Given the description of an element on the screen output the (x, y) to click on. 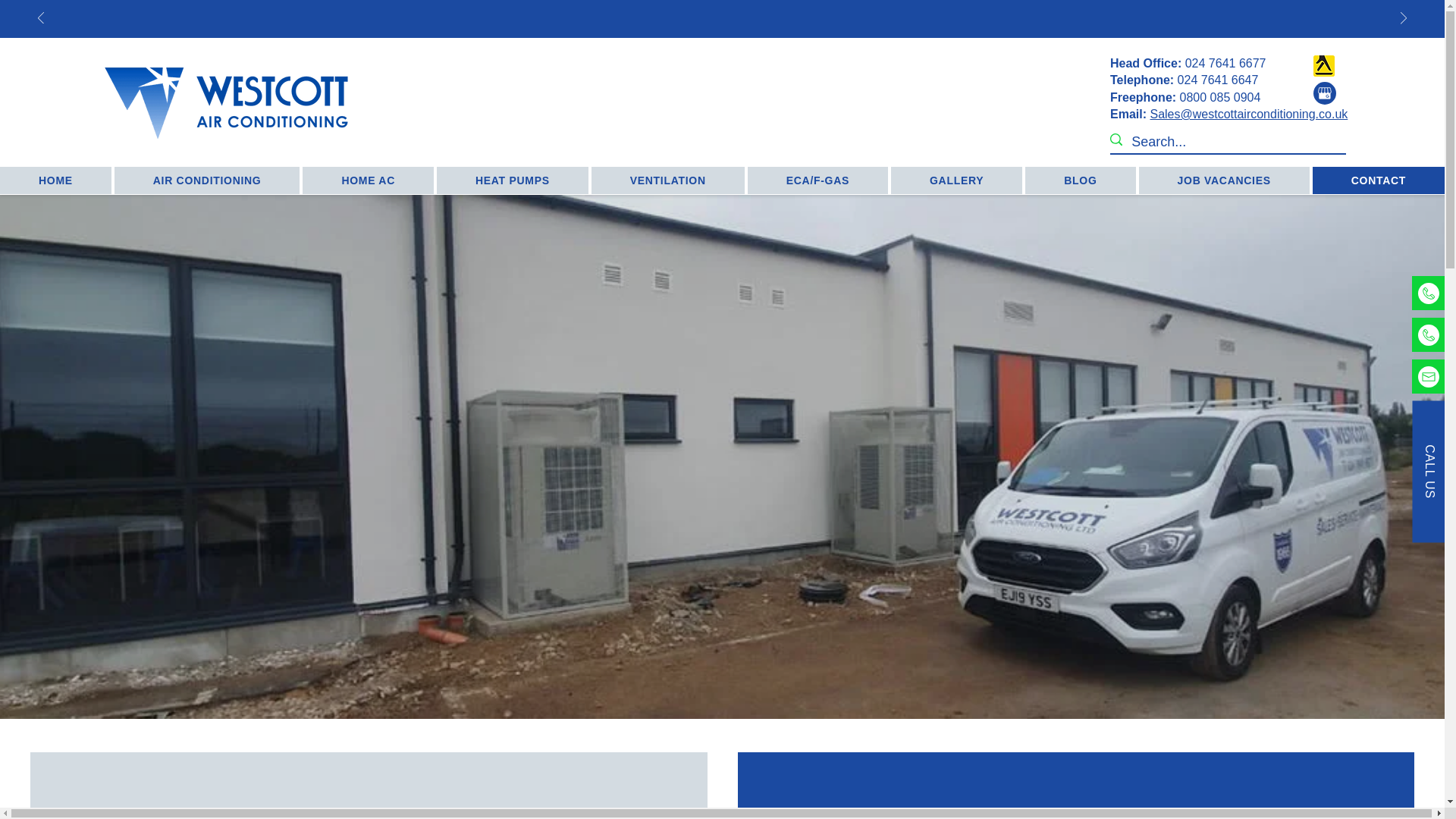
JOB VACANCIES (1223, 180)
CONTACT (1378, 180)
HOME AC (367, 180)
HEAT PUMPS (512, 180)
VENTILATION (667, 180)
BLOG (1080, 180)
HOME (56, 180)
GALLERY (956, 180)
AIR CONDITIONING (207, 180)
